Given the description of an element on the screen output the (x, y) to click on. 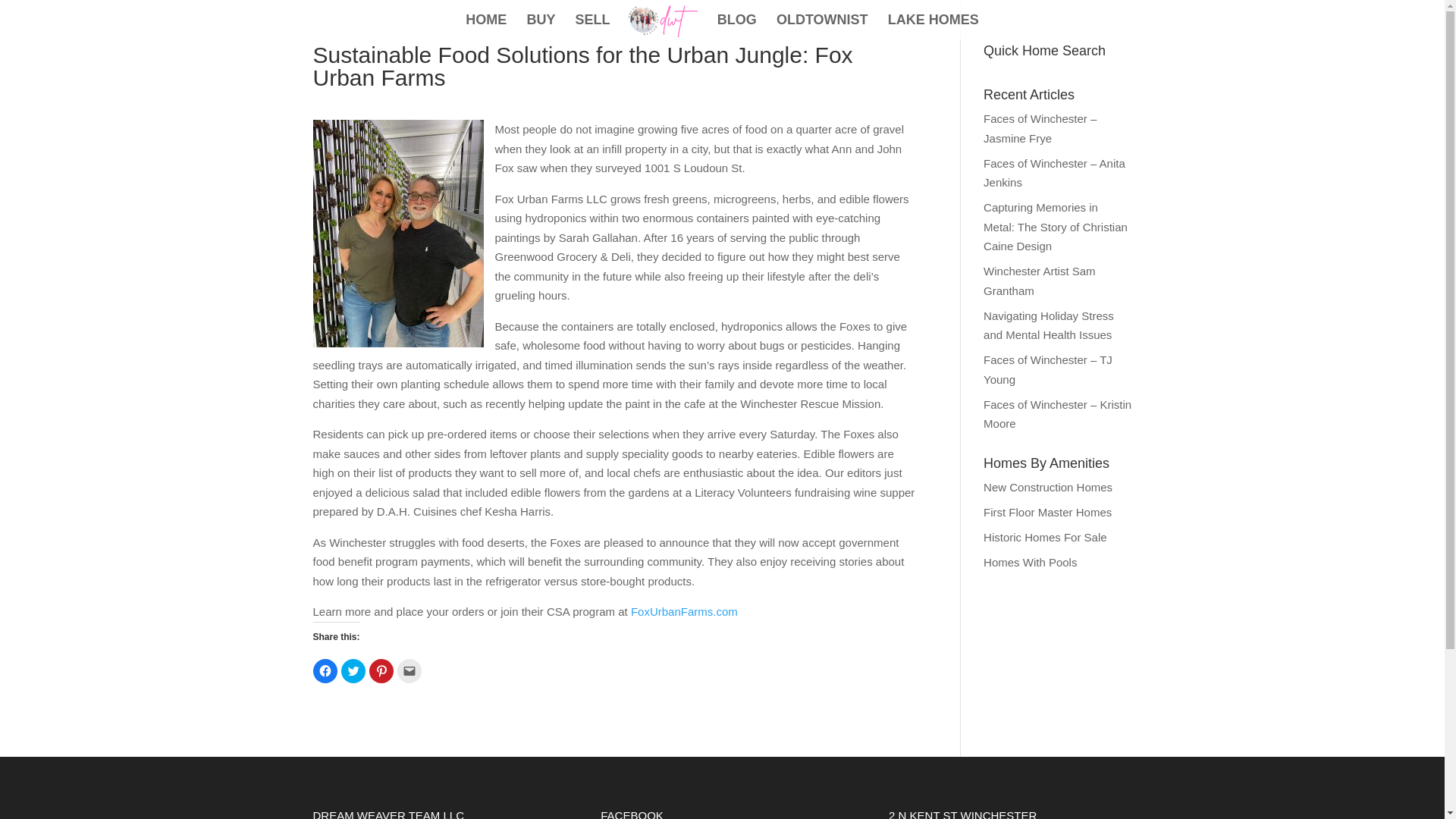
BLOG (737, 26)
FACEBOOK (631, 814)
HOME (485, 26)
Homes With Pools (1030, 561)
OLDTOWNIST (821, 26)
BUY (539, 26)
Click to share on Twitter (352, 671)
New Construction Homes (1048, 486)
Navigating Holiday Stress and Mental Health Issues (1048, 325)
Click to share on Facebook (324, 671)
